Given the description of an element on the screen output the (x, y) to click on. 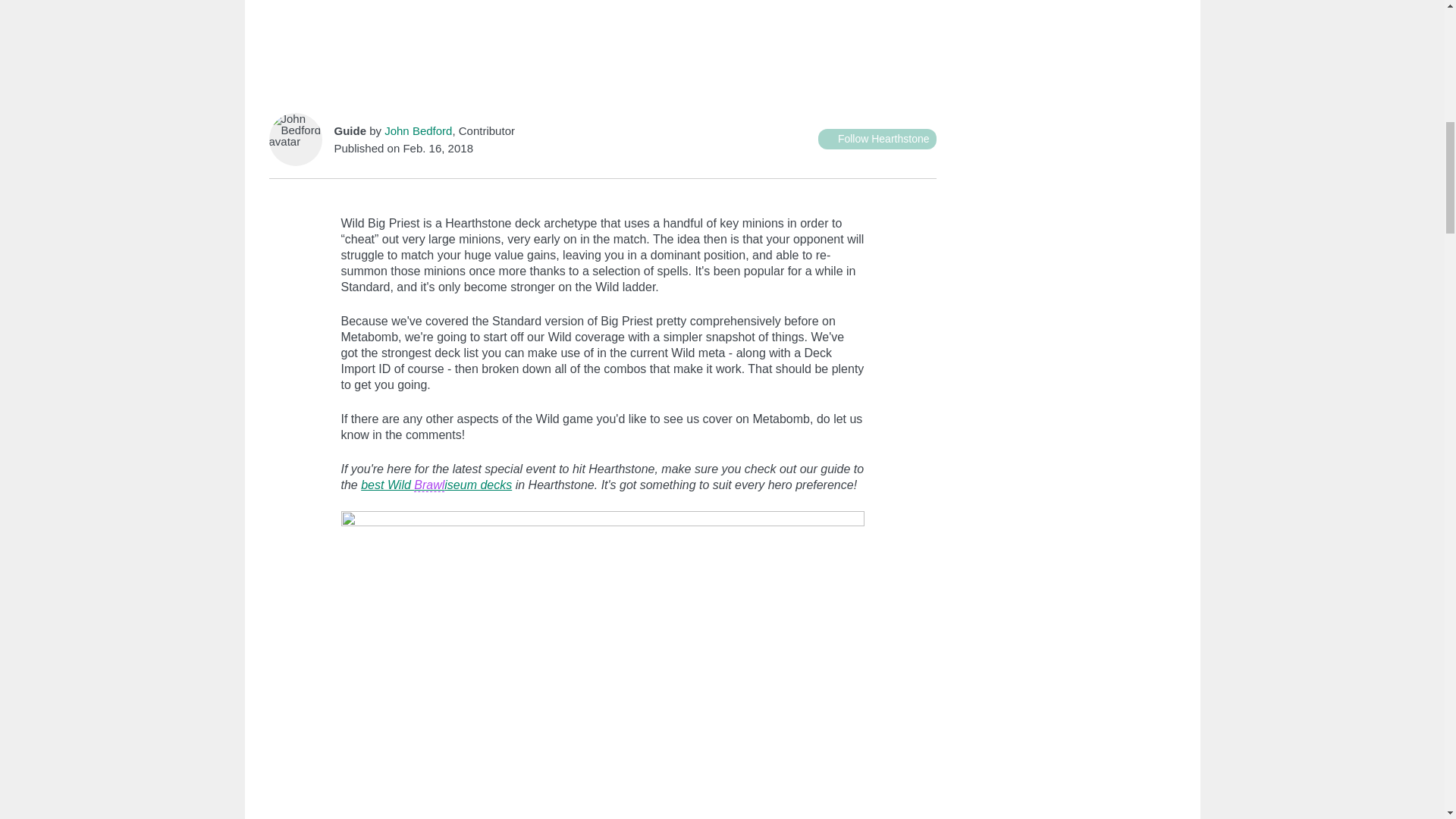
John Bedford (417, 130)
Follow Hearthstone (877, 138)
best Wild Brawliseum decks (436, 485)
